Given the description of an element on the screen output the (x, y) to click on. 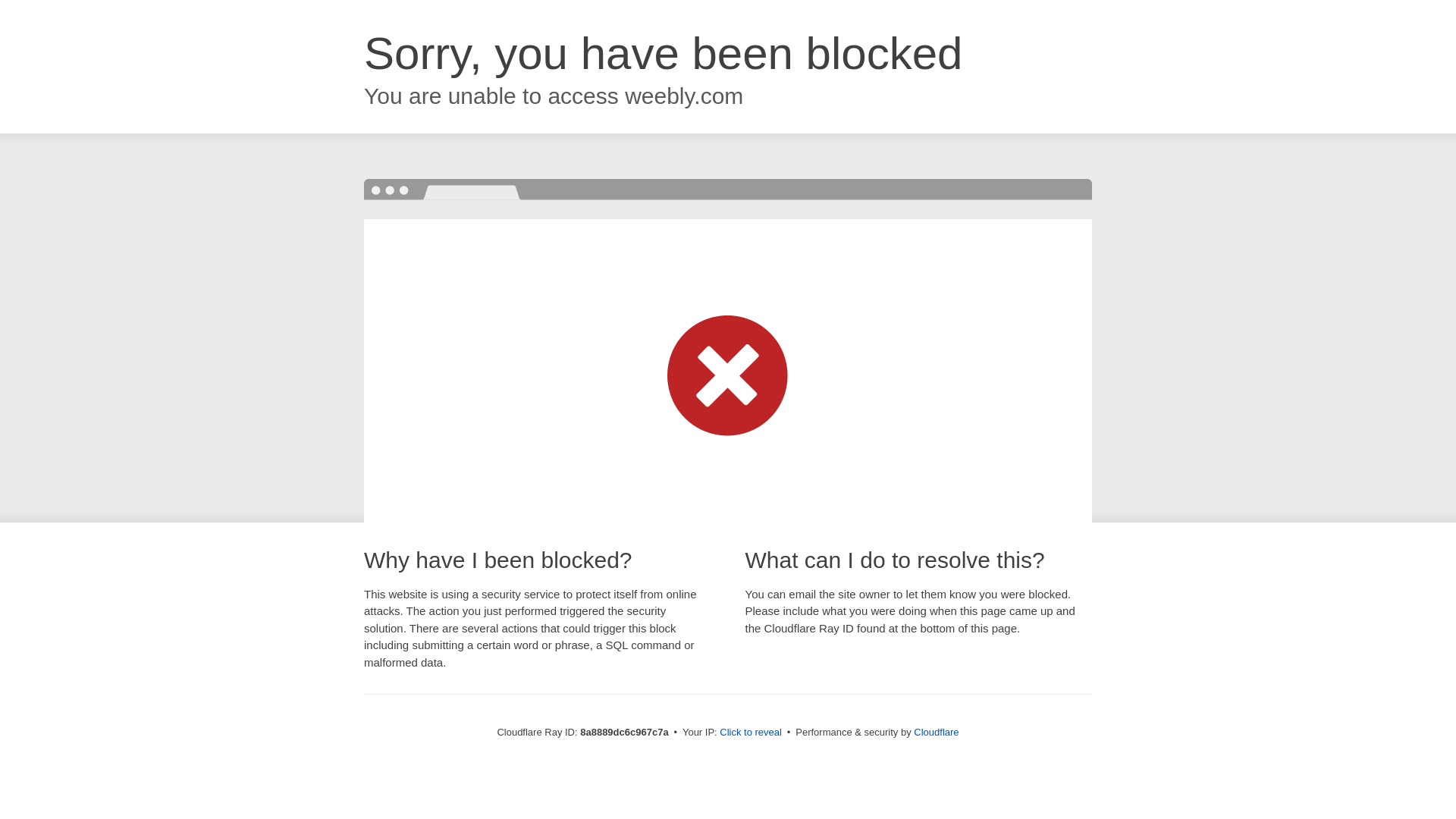
Click to reveal (750, 732)
Cloudflare (936, 731)
